Given the description of an element on the screen output the (x, y) to click on. 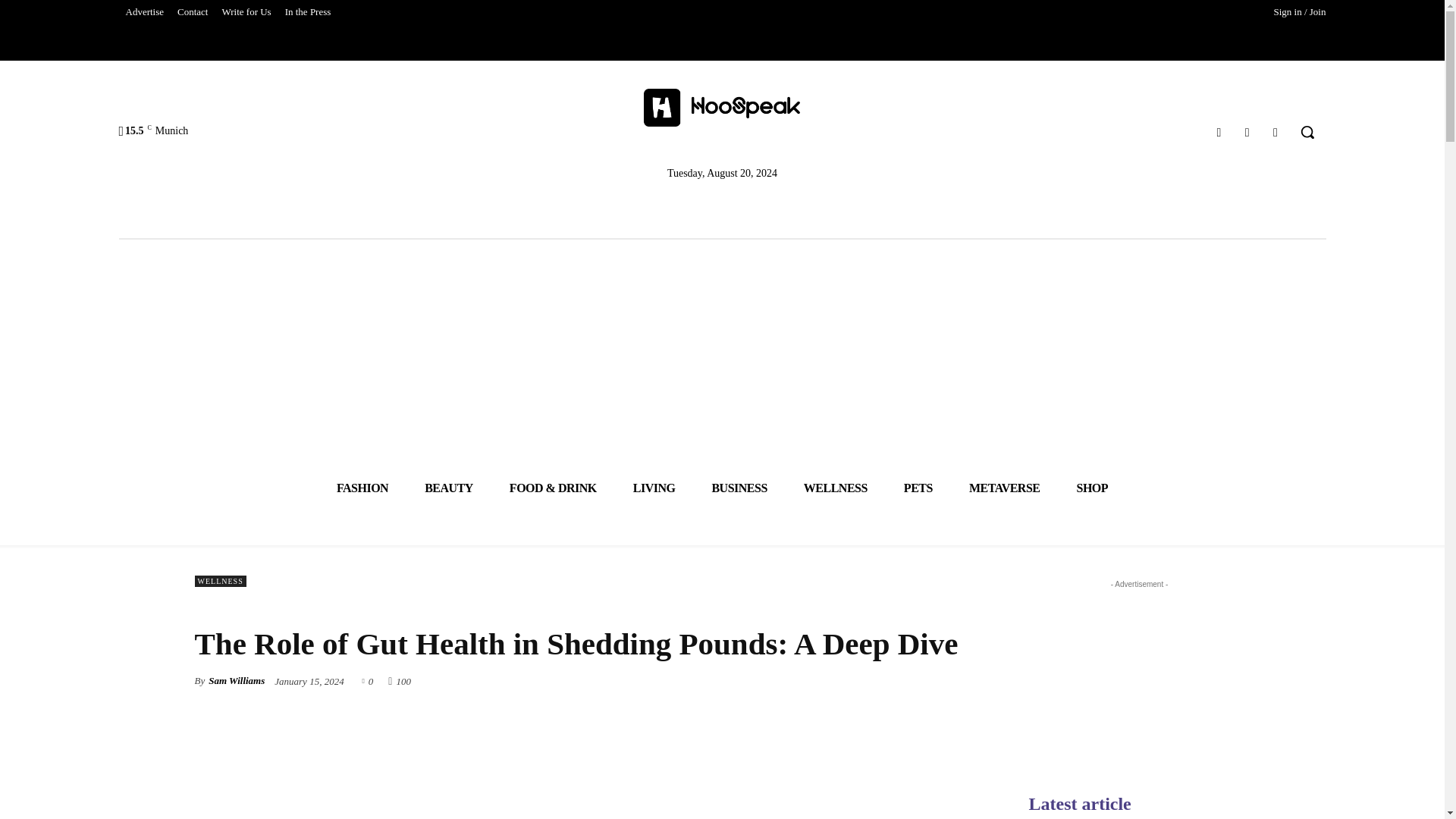
SHOP (1091, 487)
Twitter (1246, 132)
BEAUTY (449, 487)
FASHION (362, 487)
Write for Us (246, 12)
Facebook (1218, 132)
In the Press (307, 12)
LIVING (654, 487)
WELLNESS (835, 487)
